Given the description of an element on the screen output the (x, y) to click on. 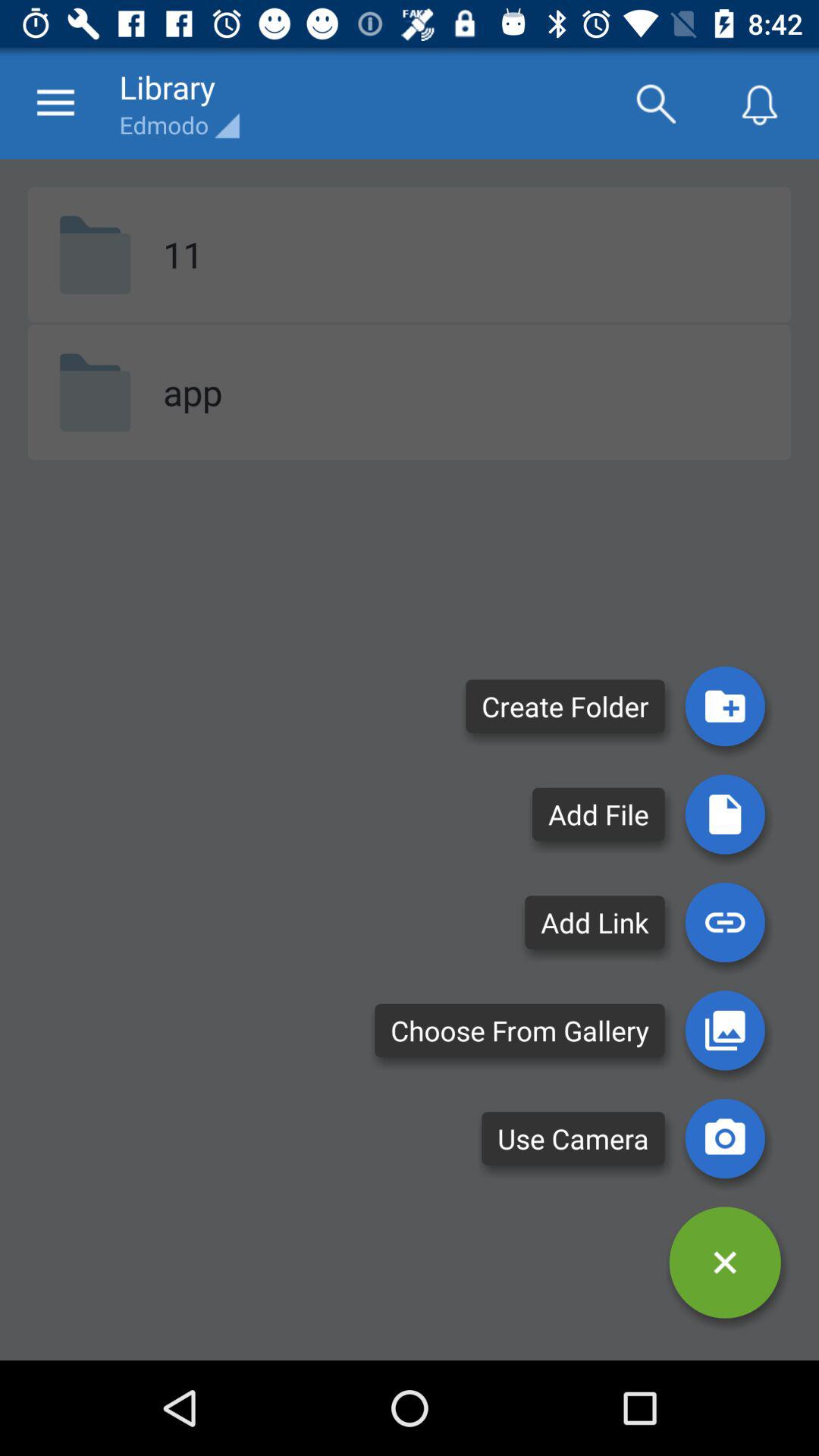
choose the icon to the left of library item (55, 103)
